Given the description of an element on the screen output the (x, y) to click on. 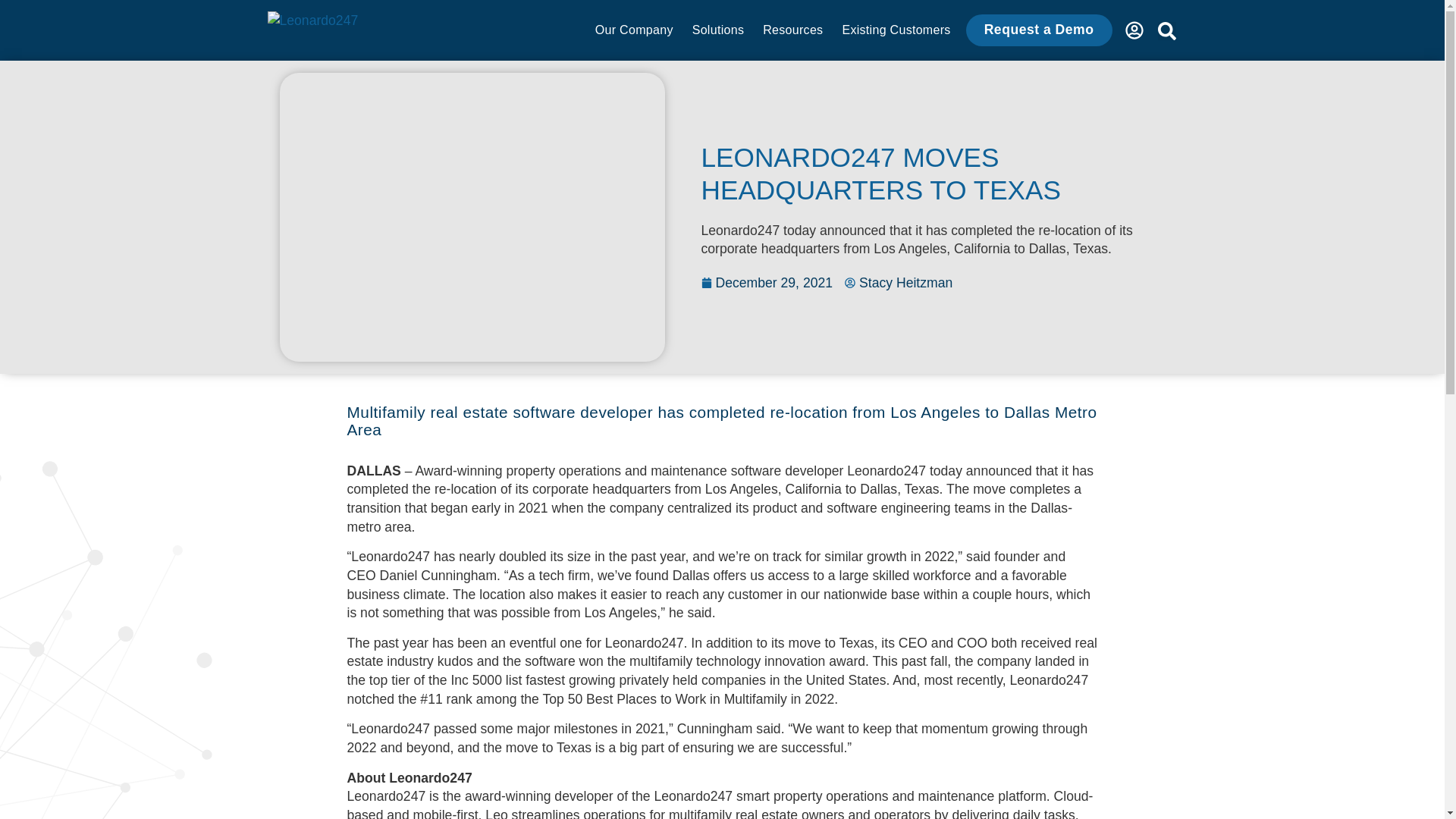
Leonardo247 customer login - opens in new tab (1133, 30)
Solutions (718, 30)
Existing Customers (895, 30)
Resources (792, 30)
Our Company (633, 30)
